Given the description of an element on the screen output the (x, y) to click on. 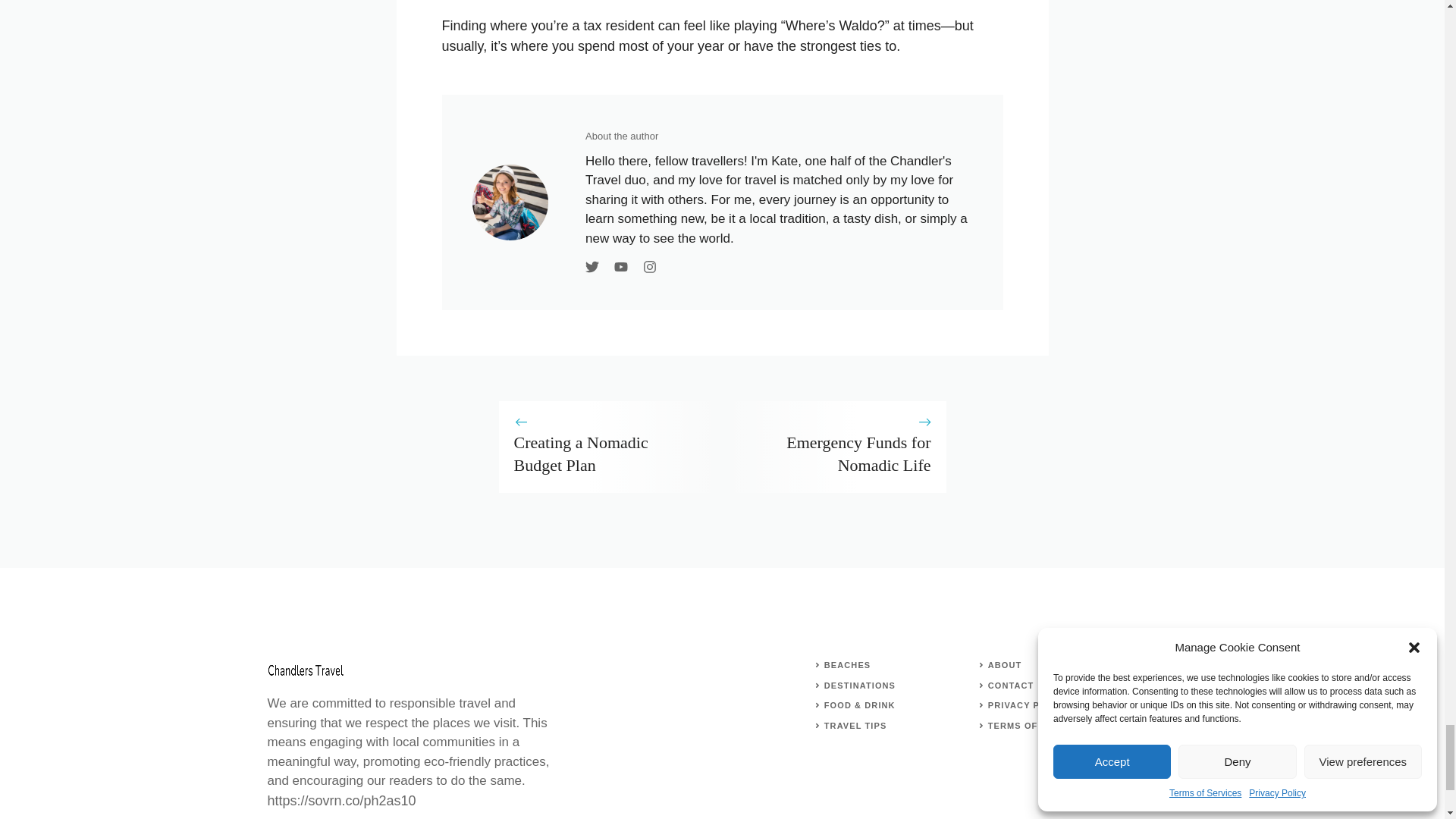
Creating a Nomadic Budget Plan (580, 453)
BEACHES (847, 664)
Chandlers Travel (304, 670)
Kate (509, 202)
Emergency Funds for Nomadic Life (858, 453)
DESTINATIONS (859, 685)
